Given the description of an element on the screen output the (x, y) to click on. 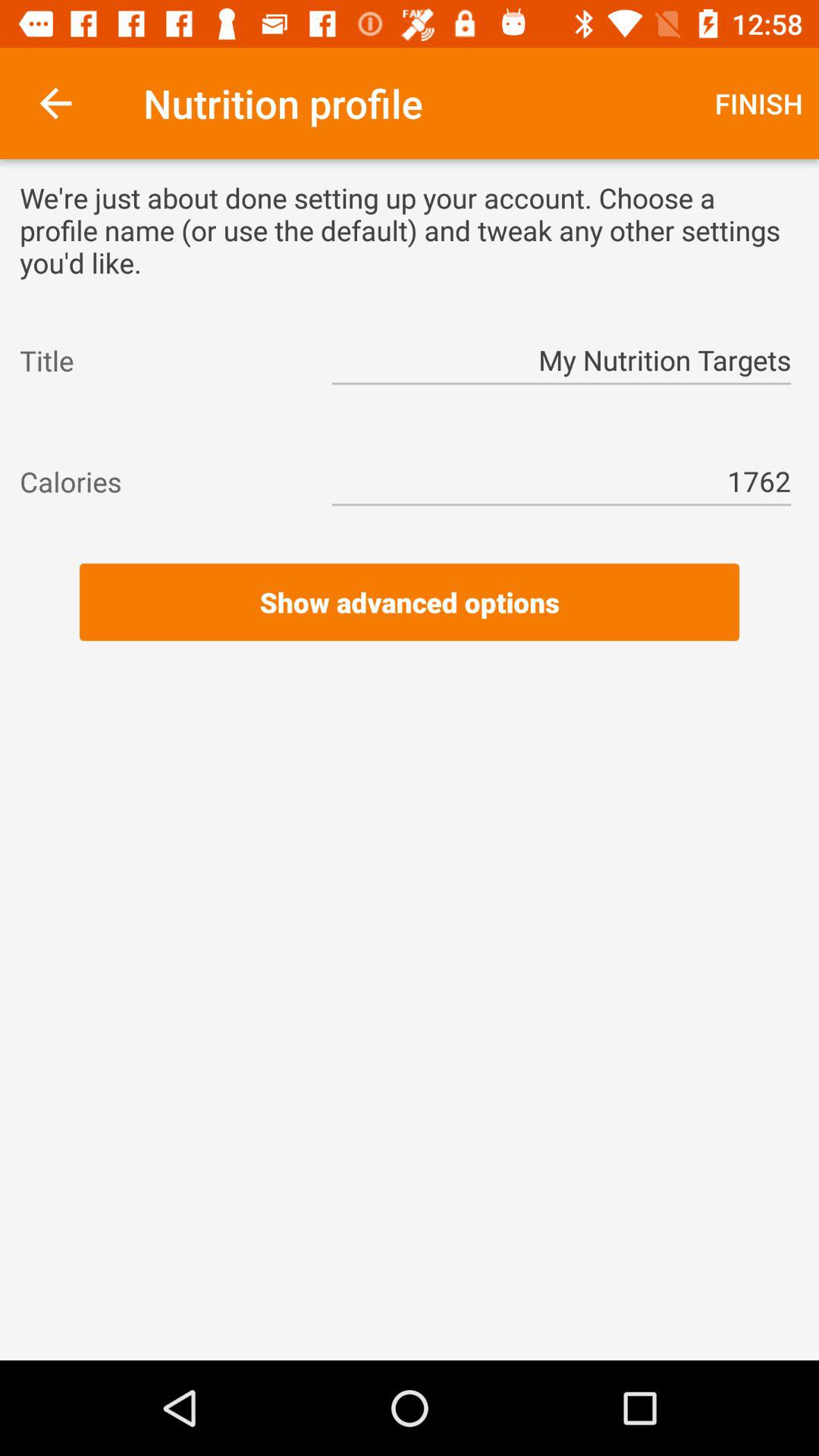
press the item below show advanced options icon (409, 661)
